Given the description of an element on the screen output the (x, y) to click on. 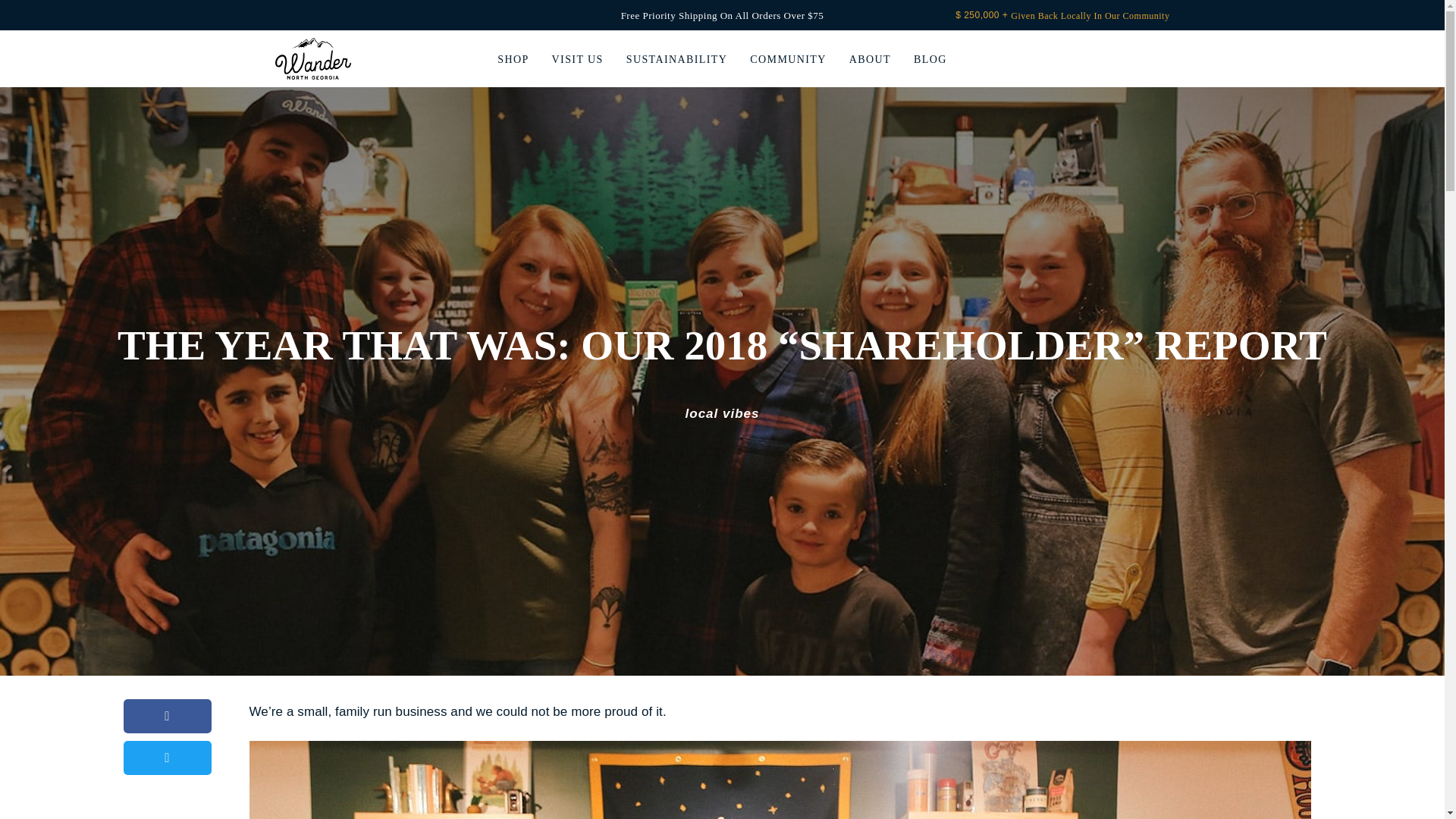
COMMUNITY (788, 62)
SUSTAINABILITY (677, 62)
VISIT US (577, 62)
Given Back Locally In Our Community (1089, 15)
SHOP (512, 62)
BLOG (930, 62)
ABOUT (869, 62)
local vibes (722, 413)
